Given the description of an element on the screen output the (x, y) to click on. 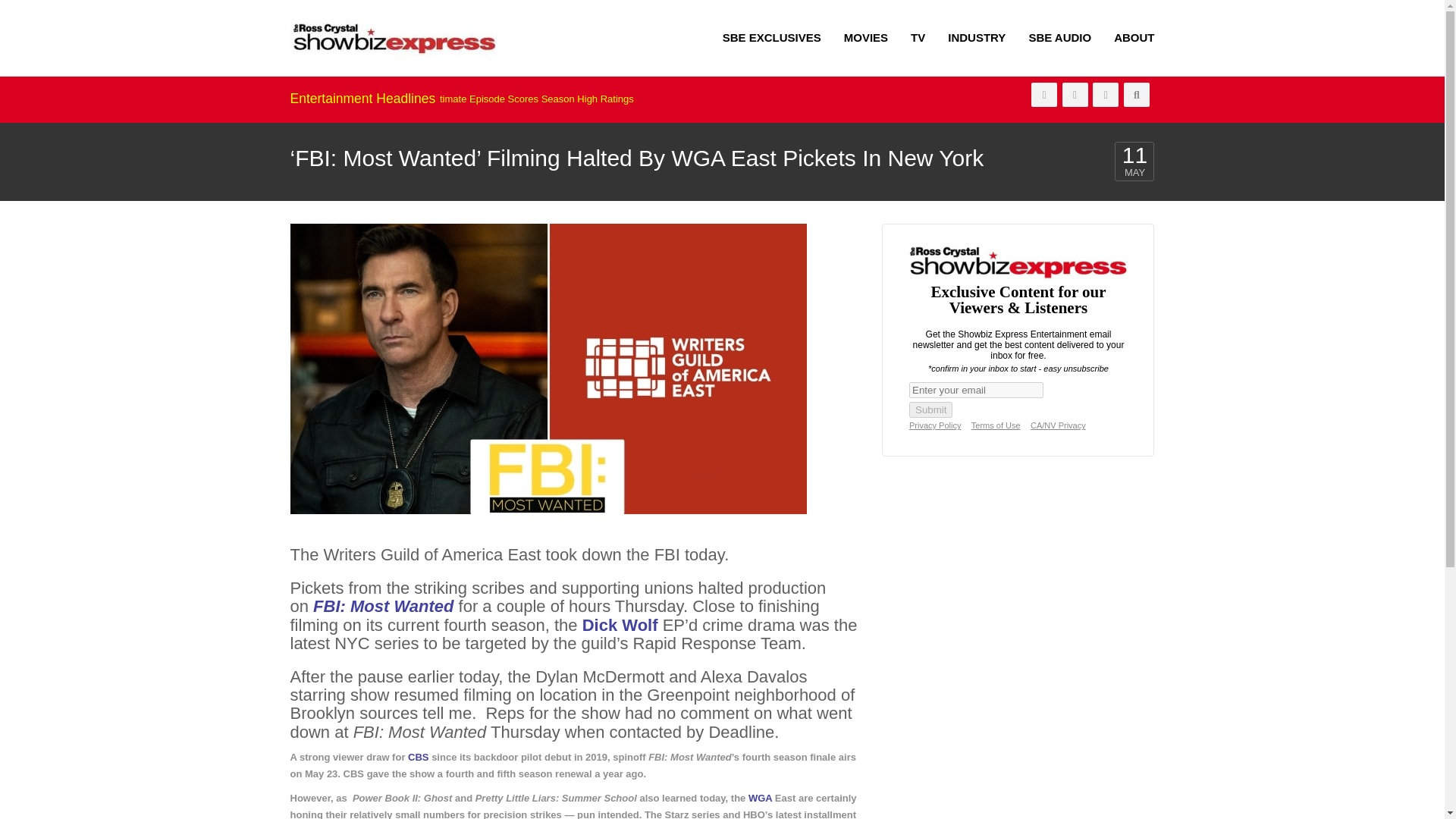
SBE AUDIO (1059, 38)
INDUSTRY (976, 38)
SBE EXCLUSIVES (771, 38)
